Given the description of an element on the screen output the (x, y) to click on. 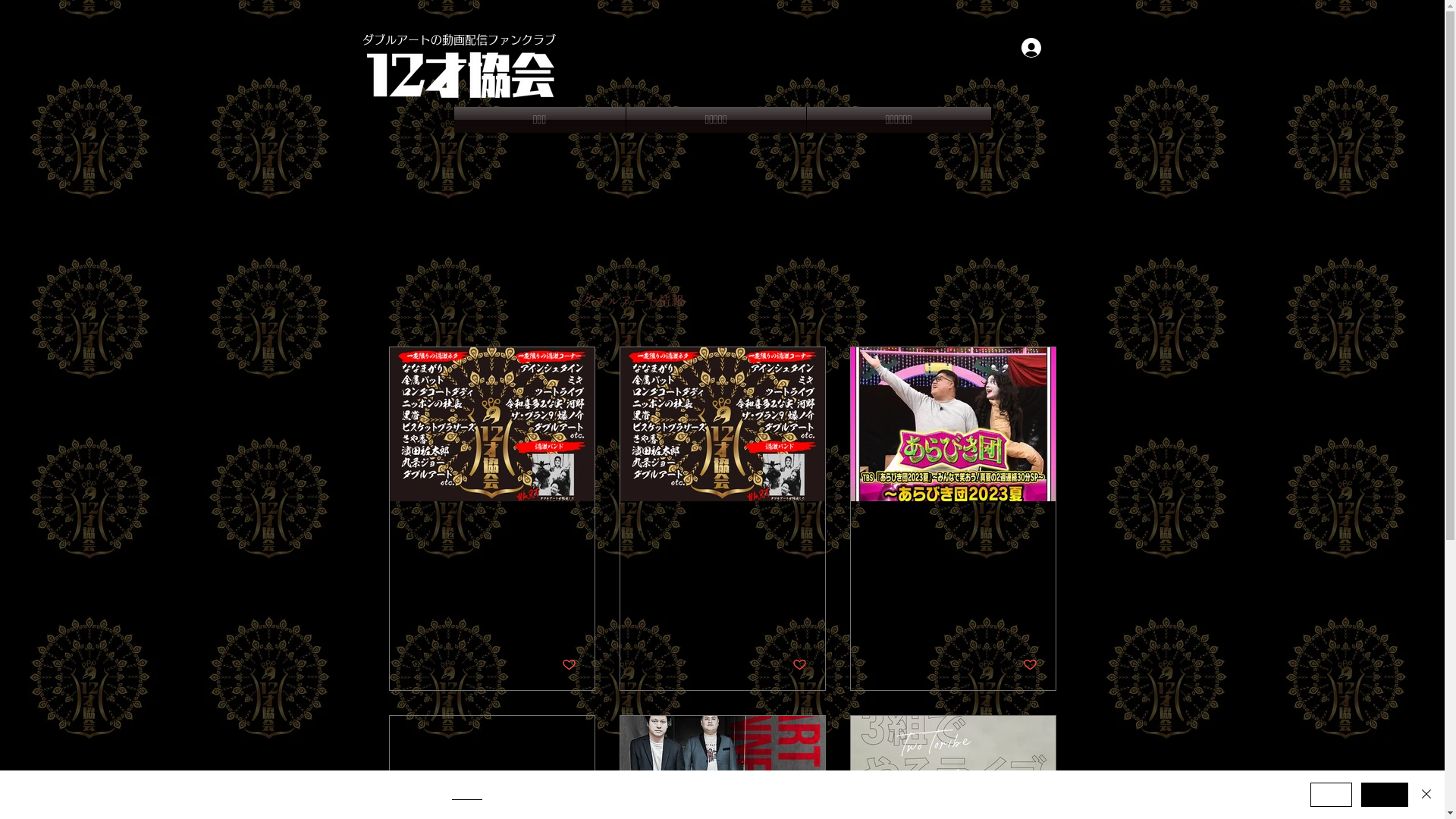
0 Element type: text (693, 663)
0 Element type: text (918, 663)
0 Element type: text (468, 663)
